Given the description of an element on the screen output the (x, y) to click on. 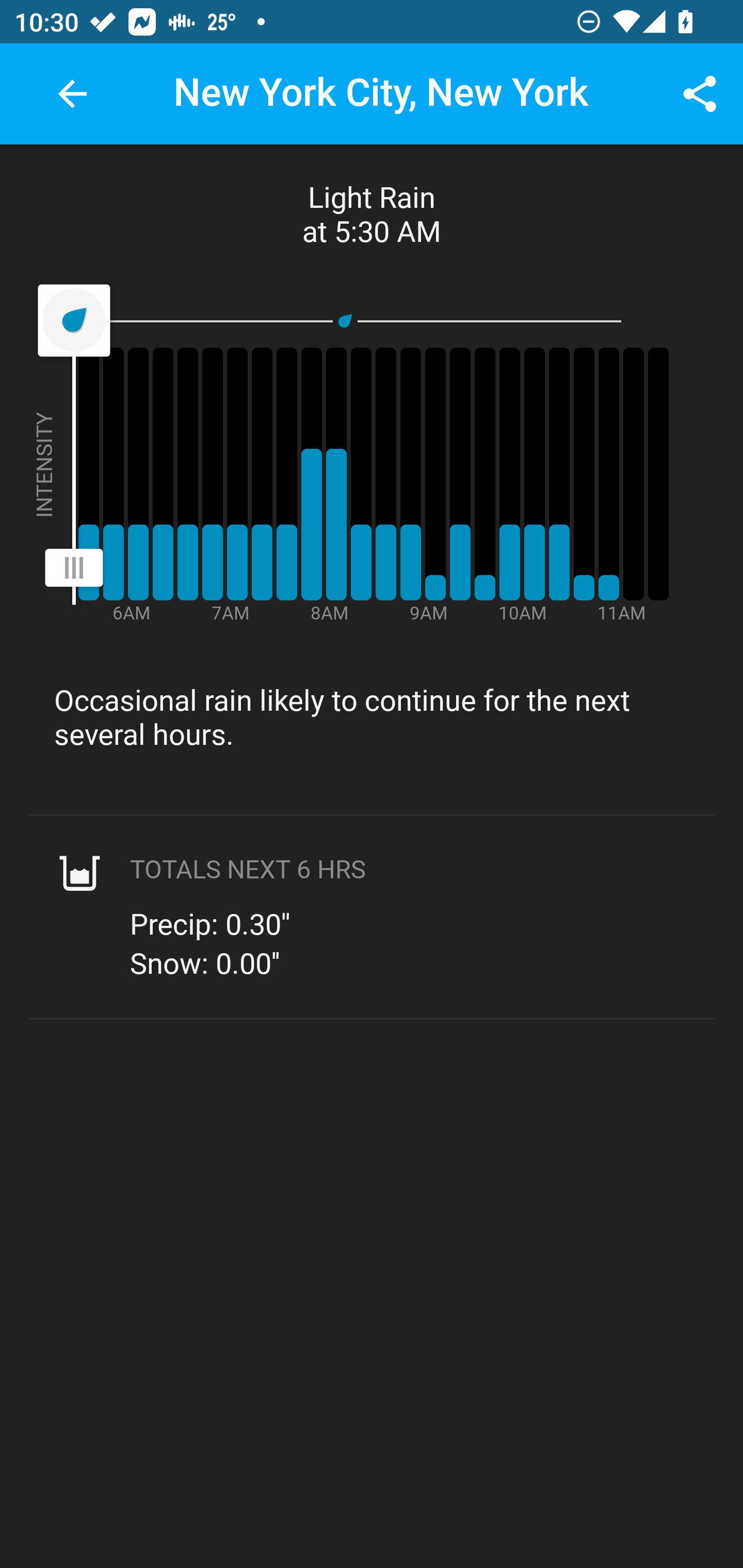
back (71, 93)
Share (699, 93)
